Given the description of an element on the screen output the (x, y) to click on. 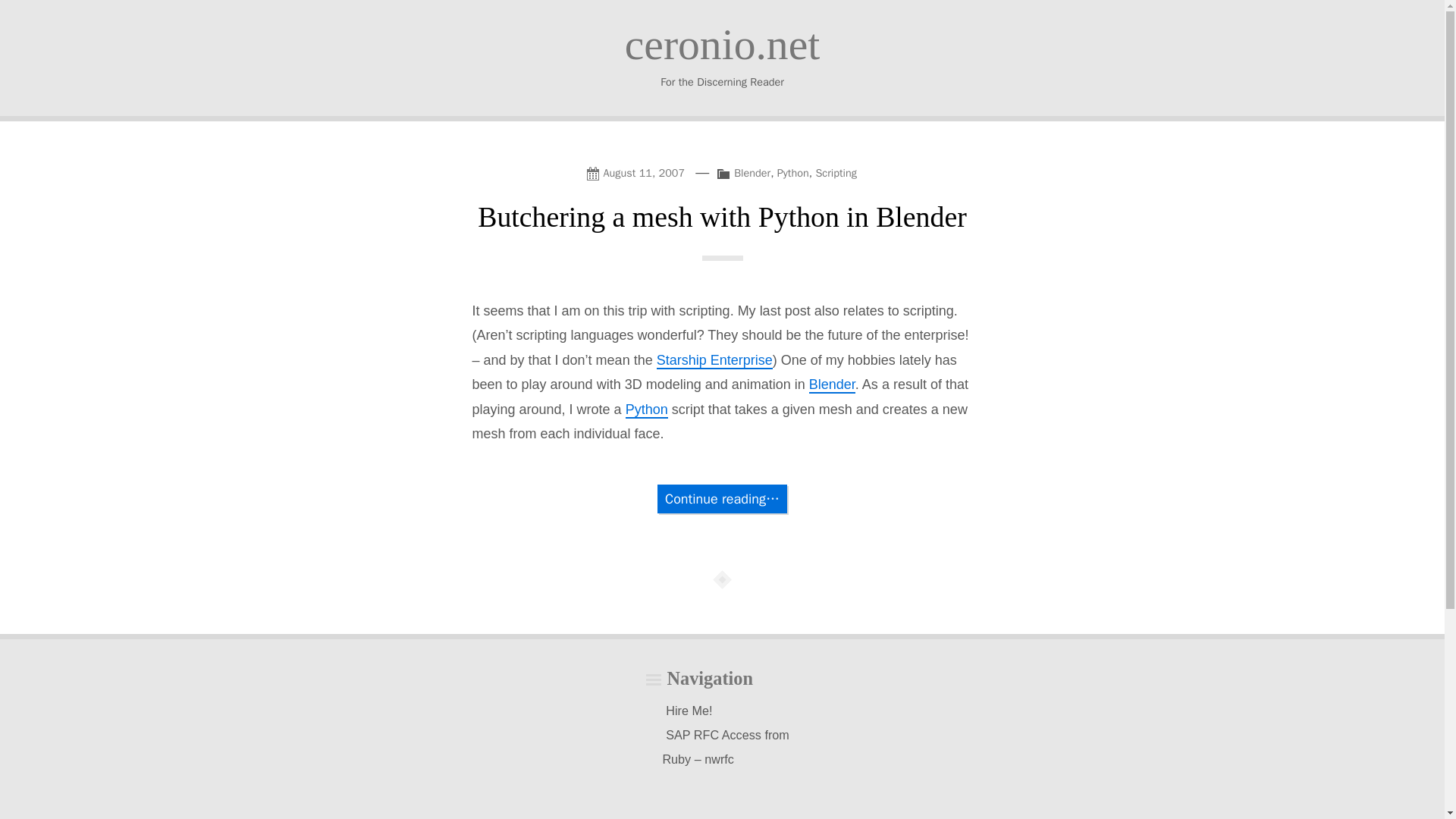
Blender (832, 384)
Butchering a mesh with Python in Blender (721, 216)
Hire Me! (689, 710)
Scripting (836, 172)
Blender (751, 172)
Starship Enterprise (714, 360)
ceronio.net (721, 43)
Python (793, 172)
August 11, 2007 (639, 171)
